Given the description of an element on the screen output the (x, y) to click on. 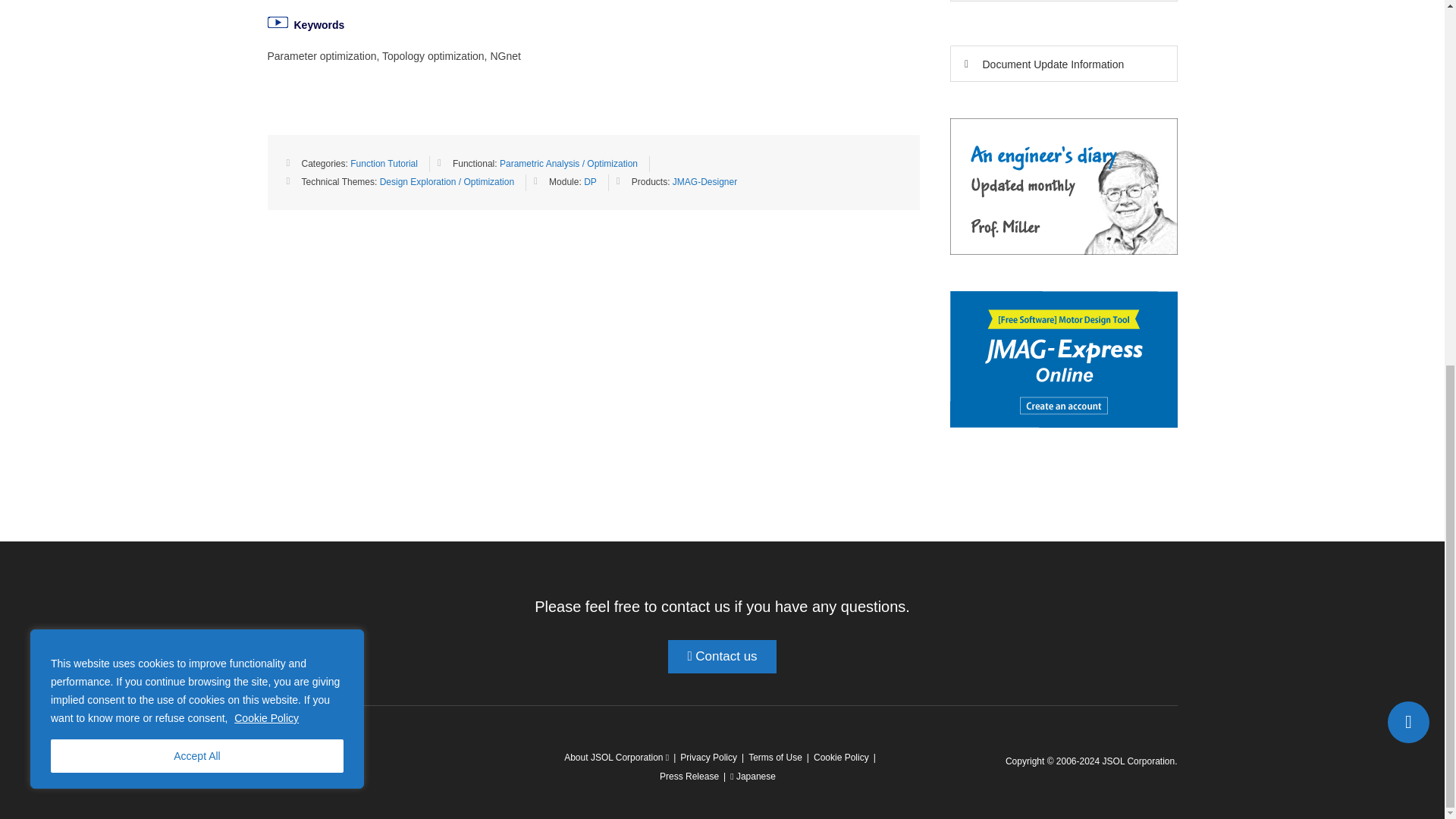
Accept All (196, 100)
Cookie Policy (265, 62)
Contact (1408, 66)
